Given the description of an element on the screen output the (x, y) to click on. 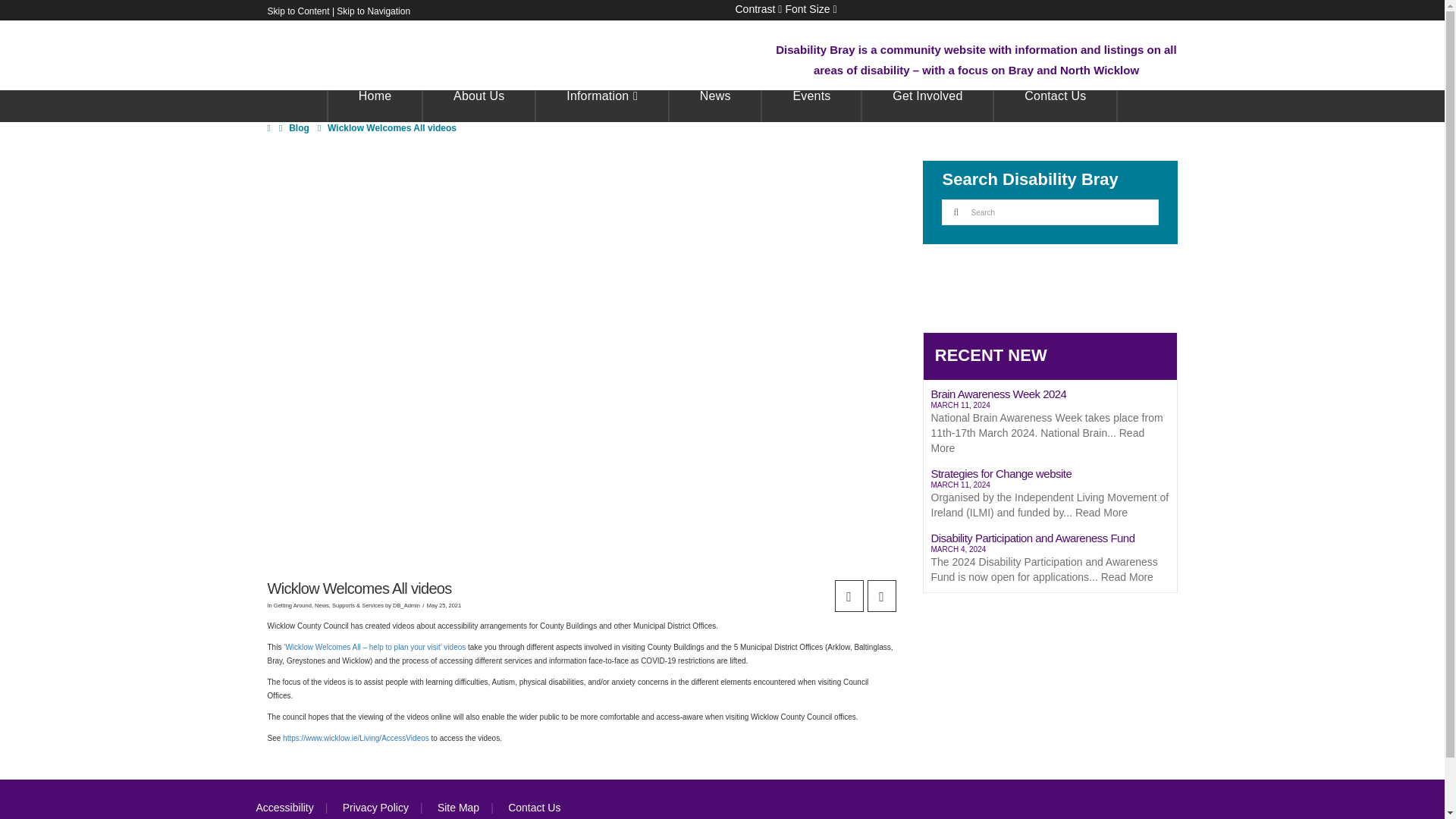
Contact Us (1056, 106)
Permalink to: "Strategies for Change website" (1049, 495)
Skip to Content (297, 10)
Permalink to: "Disability Participation and Awareness Fund" (1049, 559)
You Are Here (392, 128)
Skip to Navigation (373, 10)
Permalink to: "Brain Awareness Week 2024" (1049, 423)
Events (811, 106)
Get Involved (759, 9)
Home (809, 9)
News (927, 106)
About Us (374, 106)
Information (715, 106)
